Given the description of an element on the screen output the (x, y) to click on. 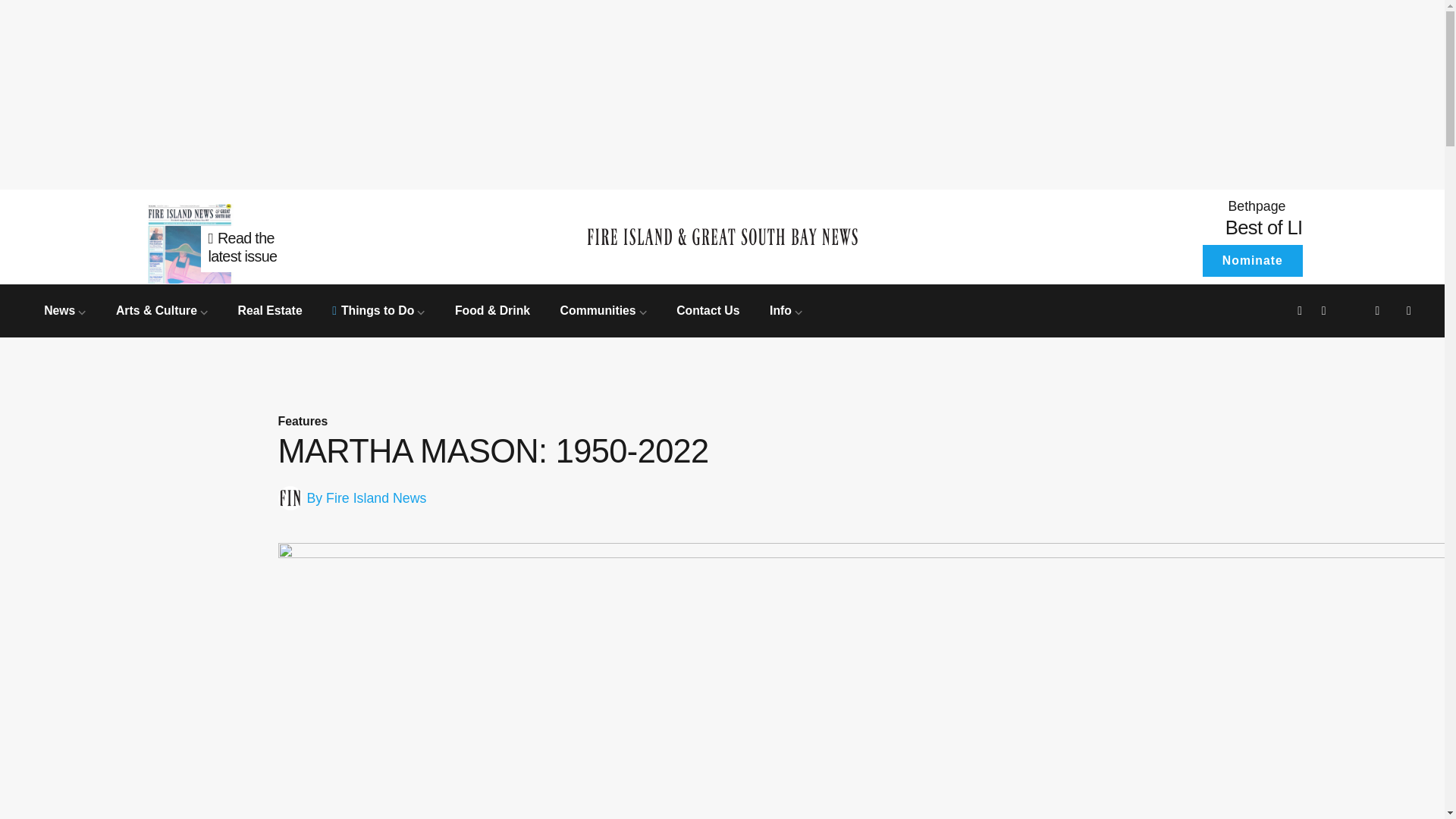
Real Estate (270, 309)
Best of LI (1264, 227)
Presented by Bethpage Federal Credit Union (1166, 206)
Contact Us (708, 309)
Info (786, 309)
Nominate (1251, 260)
Communities (603, 309)
News (64, 309)
Posts by Fire Island News (376, 498)
Things to Do (378, 309)
